Given the description of an element on the screen output the (x, y) to click on. 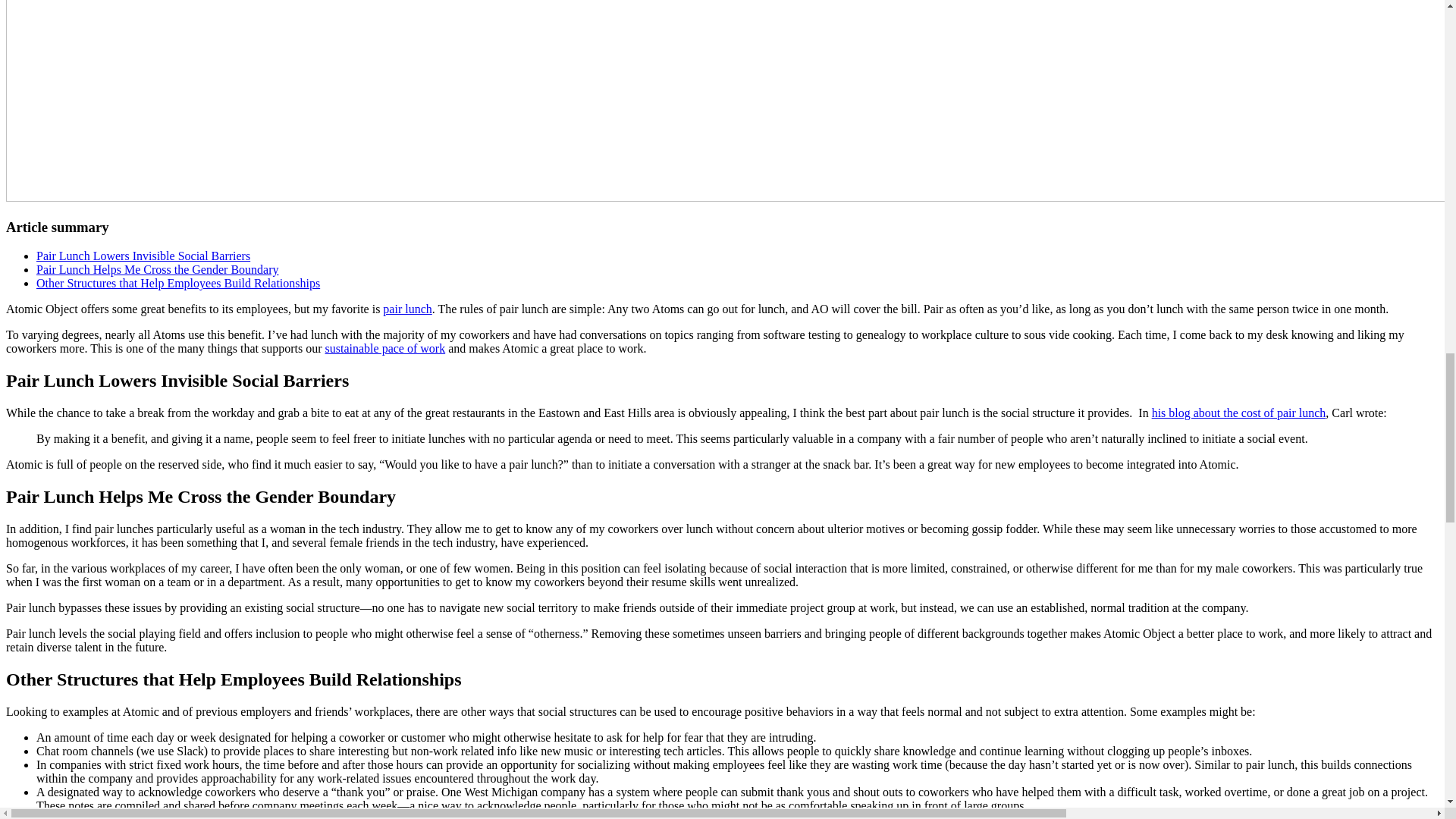
Pair Lunch Helps Me Cross the Gender Boundary (157, 269)
Other Structures that Help Employees Build Relationships (178, 282)
Pair Lunch Lowers Invisible Social Barriers (143, 255)
pair lunch (406, 308)
his blog about the cost of pair lunch (1238, 412)
sustainable pace of work (384, 348)
